Given the description of an element on the screen output the (x, y) to click on. 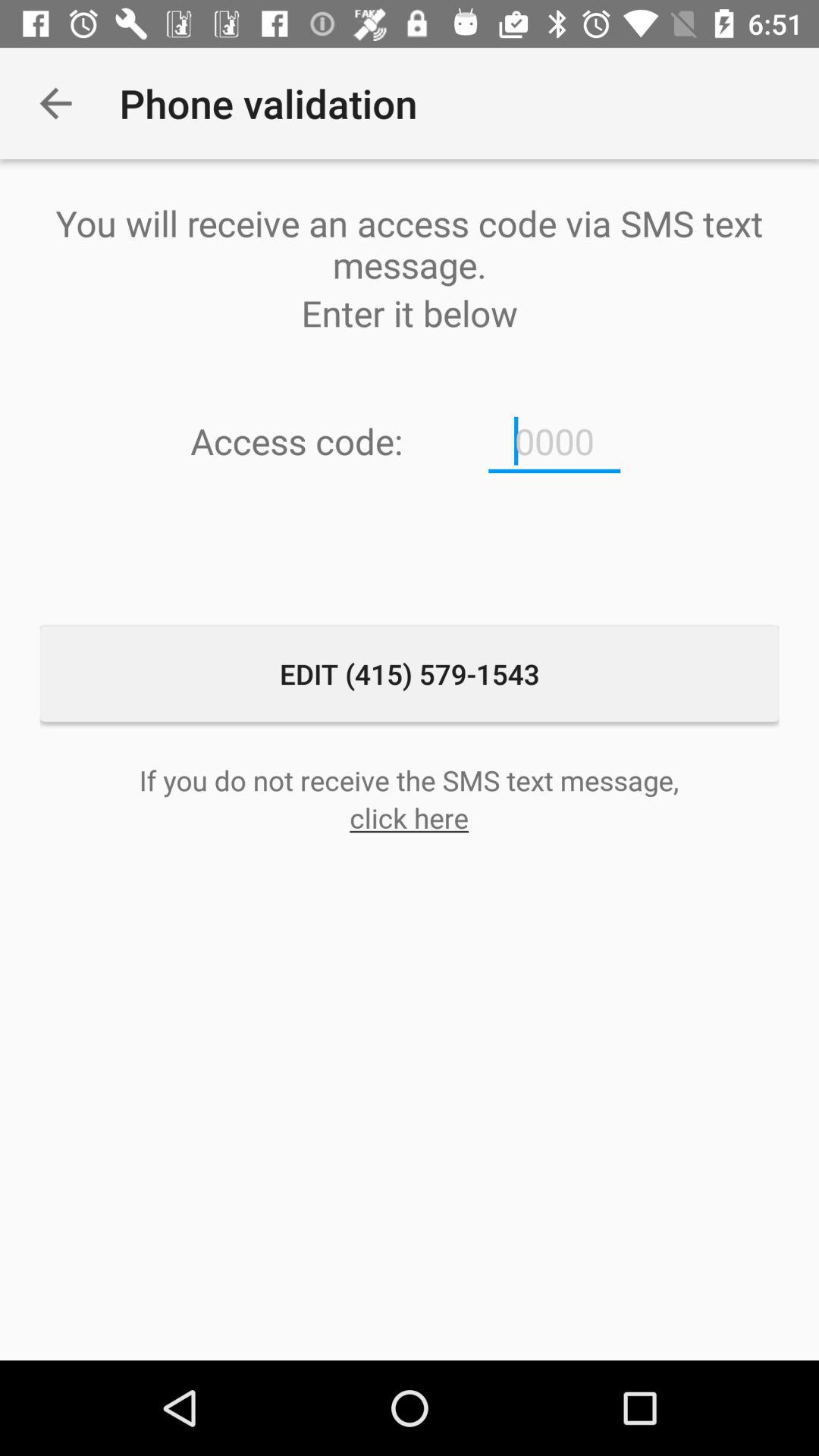
turn on click here icon (408, 817)
